Given the description of an element on the screen output the (x, y) to click on. 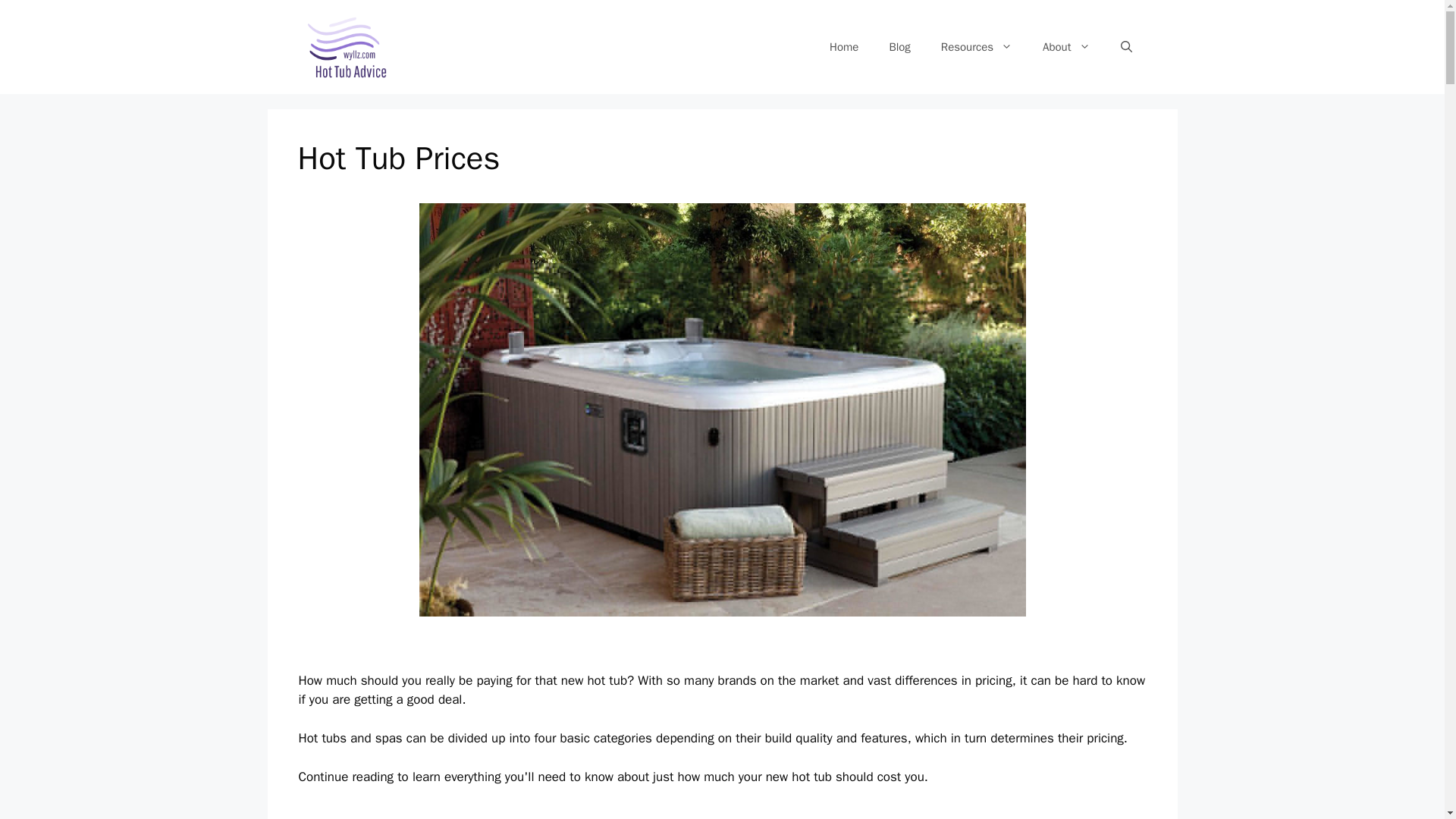
About (1066, 46)
Blog (898, 46)
Home (843, 46)
Resources (976, 46)
